Given the description of an element on the screen output the (x, y) to click on. 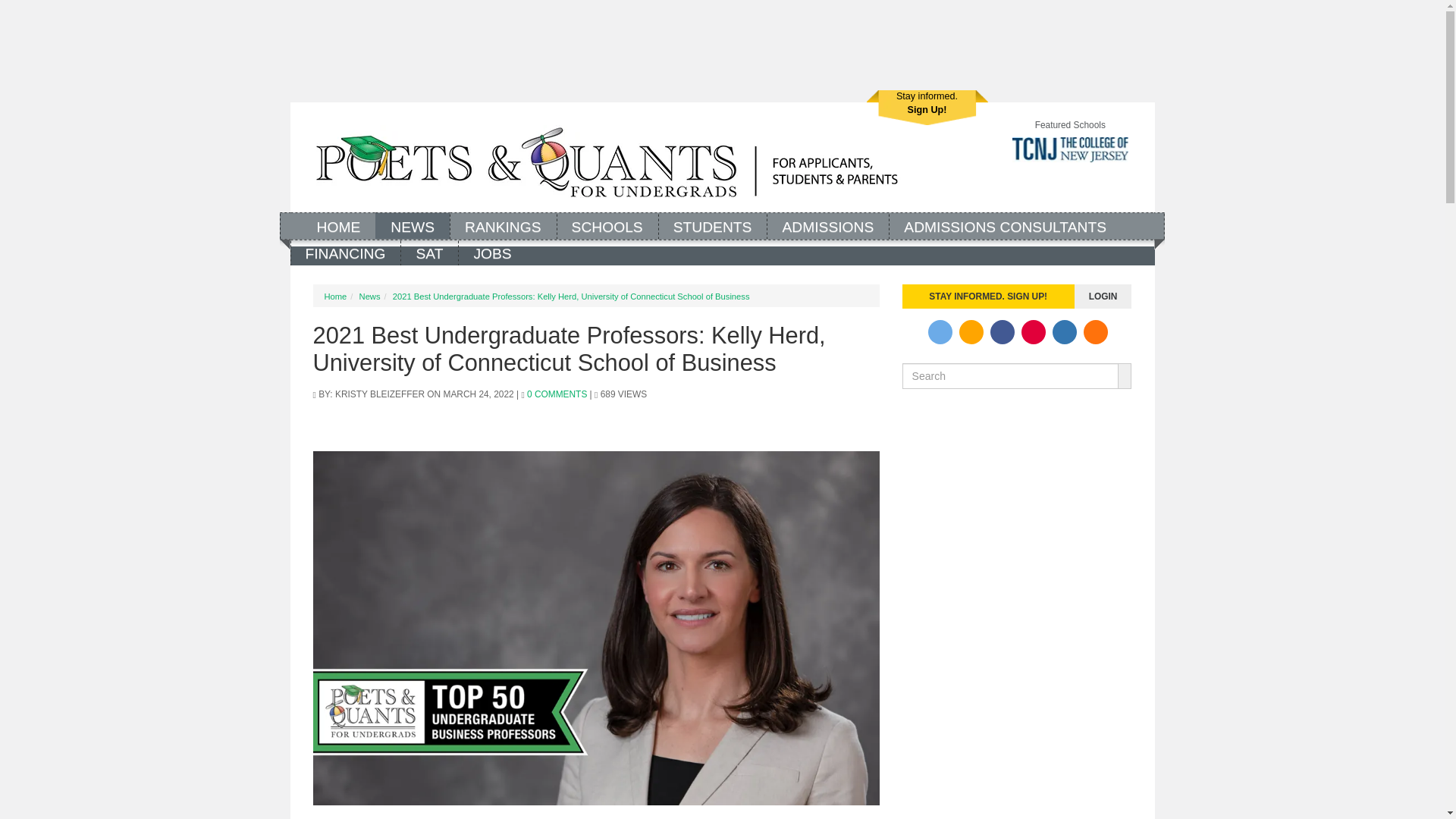
Home (338, 225)
STUDENTS (712, 225)
Admissions (827, 225)
Register (926, 107)
Schools (607, 225)
SCHOOLS (607, 225)
Students (712, 225)
ADMISSIONS CONSULTANTS (1004, 225)
HOME (338, 225)
JOBS (491, 252)
